Given the description of an element on the screen output the (x, y) to click on. 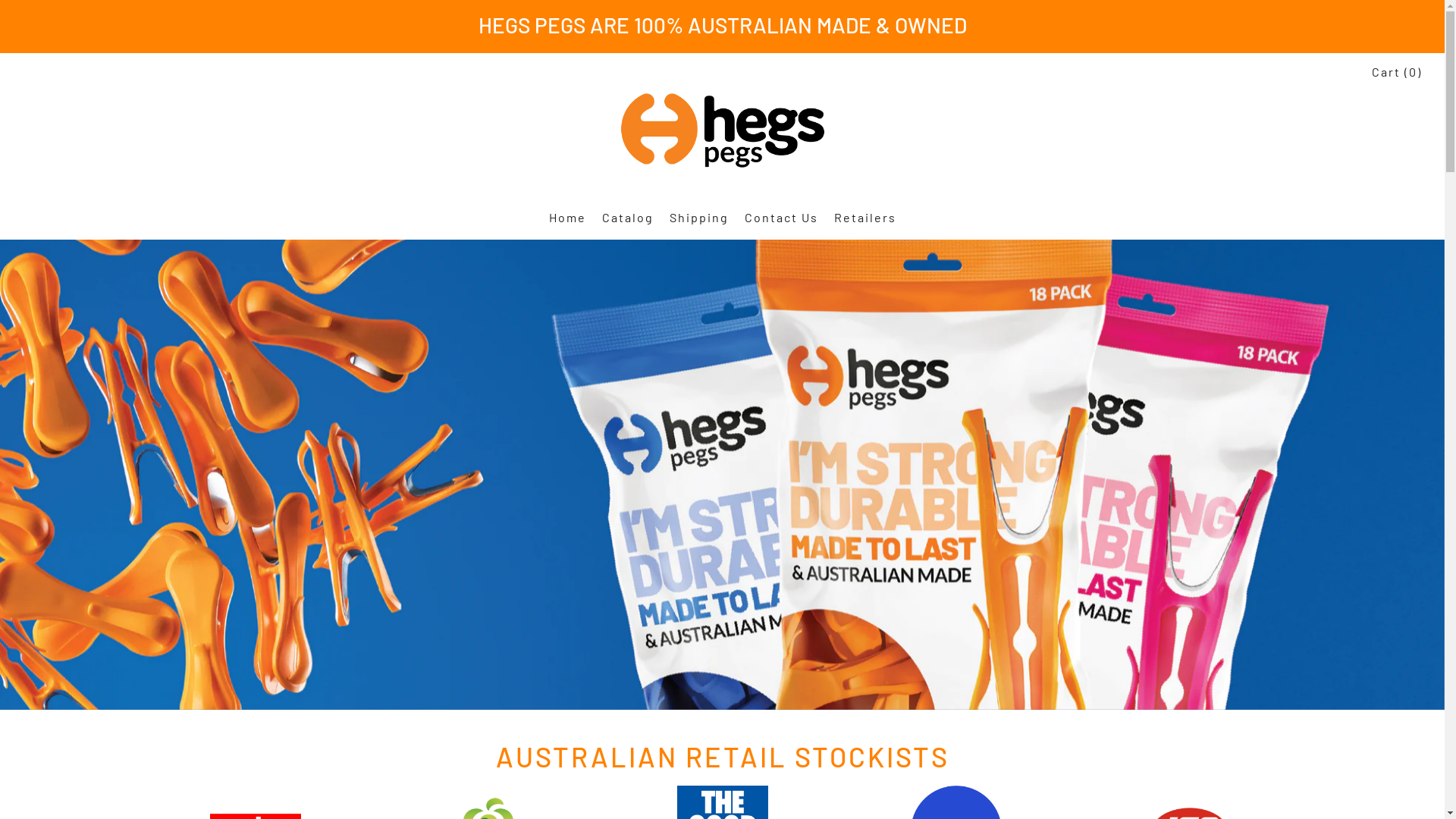
Cart (0) Element type: text (1396, 71)
Catalog Element type: text (627, 217)
Home Element type: text (567, 217)
Retailers Element type: text (865, 217)
Shipping Element type: text (698, 217)
Contact Us Element type: text (781, 217)
